Given the description of an element on the screen output the (x, y) to click on. 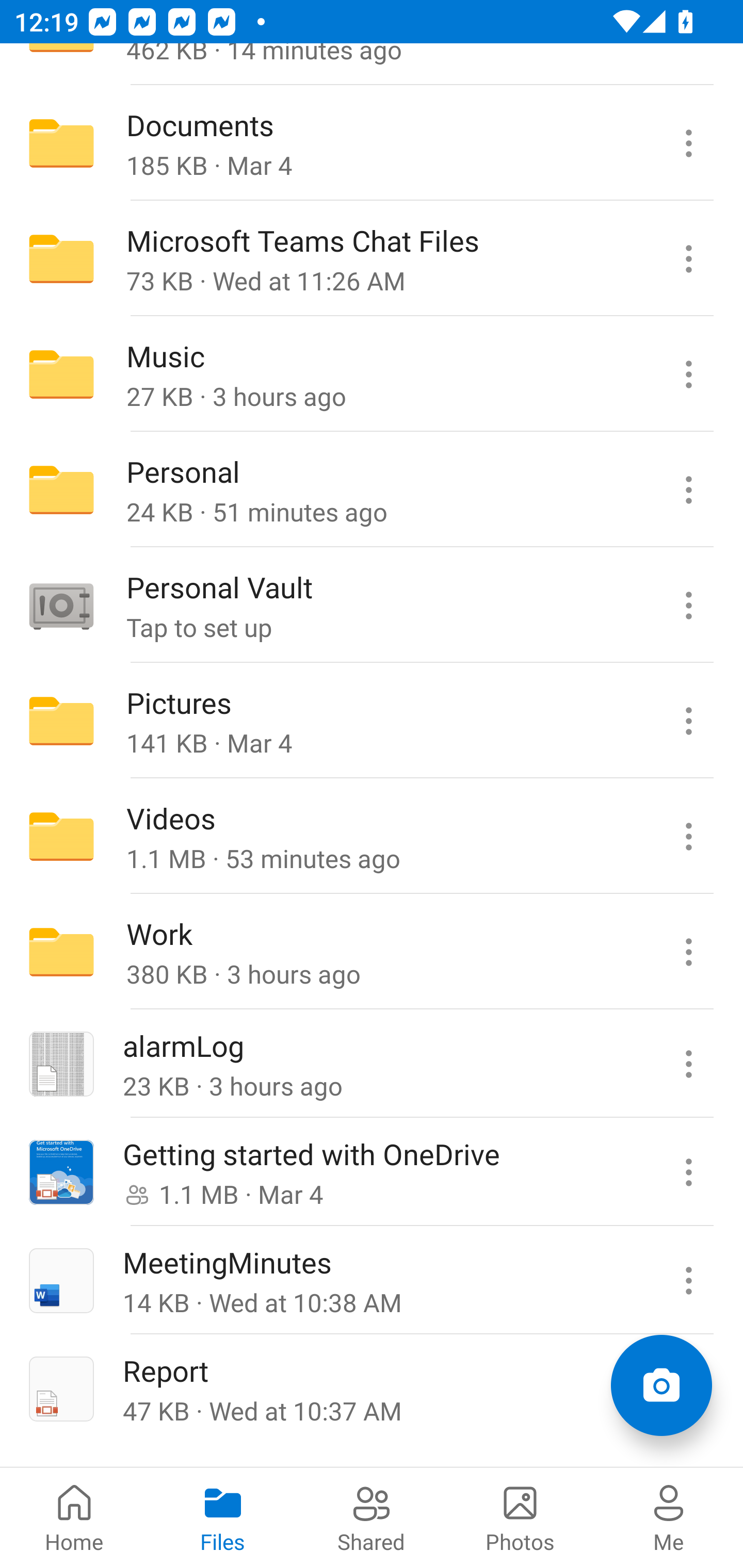
Folder Documents 185 KB · Mar 4 Documents commands (371, 143)
Documents commands (688, 143)
Microsoft Teams Chat Files commands (688, 258)
Folder Music 27 KB · 3 hours ago Music commands (371, 374)
Music commands (688, 374)
Personal commands (688, 489)
Personal Vault commands (688, 605)
Folder Pictures 141 KB · Mar 4 Pictures commands (371, 721)
Pictures commands (688, 721)
Videos commands (688, 836)
Folder Work 380 KB · 3 hours ago Work commands (371, 951)
Work commands (688, 951)
alarmLog commands (688, 1063)
Getting started with OneDrive commands (688, 1171)
MeetingMinutes commands (688, 1280)
Add items Scan (660, 1385)
Home pivot Home (74, 1517)
Shared pivot Shared (371, 1517)
Photos pivot Photos (519, 1517)
Me pivot Me (668, 1517)
